Given the description of an element on the screen output the (x, y) to click on. 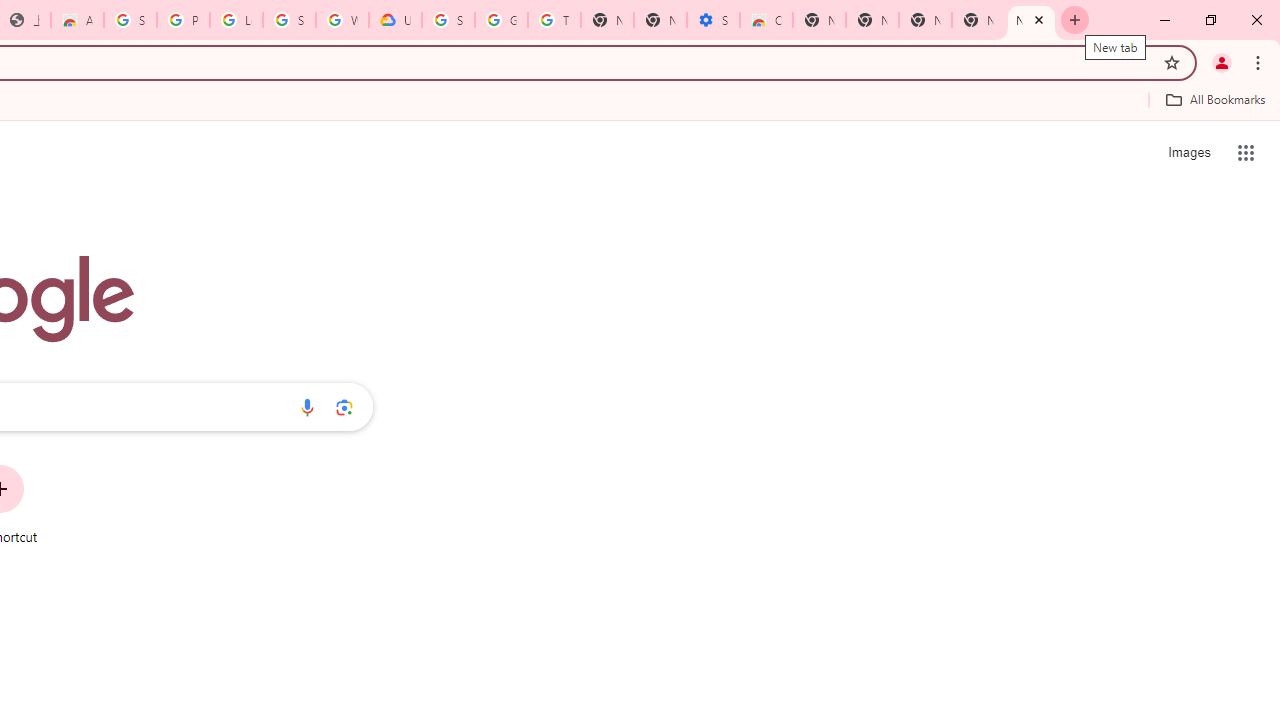
Awesome Screen Recorder & Screenshot - Chrome Web Store (77, 20)
Who are Google's partners? - Privacy and conditions - Google (342, 20)
Chrome Web Store - Accessibility extensions (766, 20)
Settings - Accessibility (713, 20)
Turn cookies on or off - Computer - Google Account Help (554, 20)
New Tab (819, 20)
Sign in - Google Accounts (130, 20)
